Given the description of an element on the screen output the (x, y) to click on. 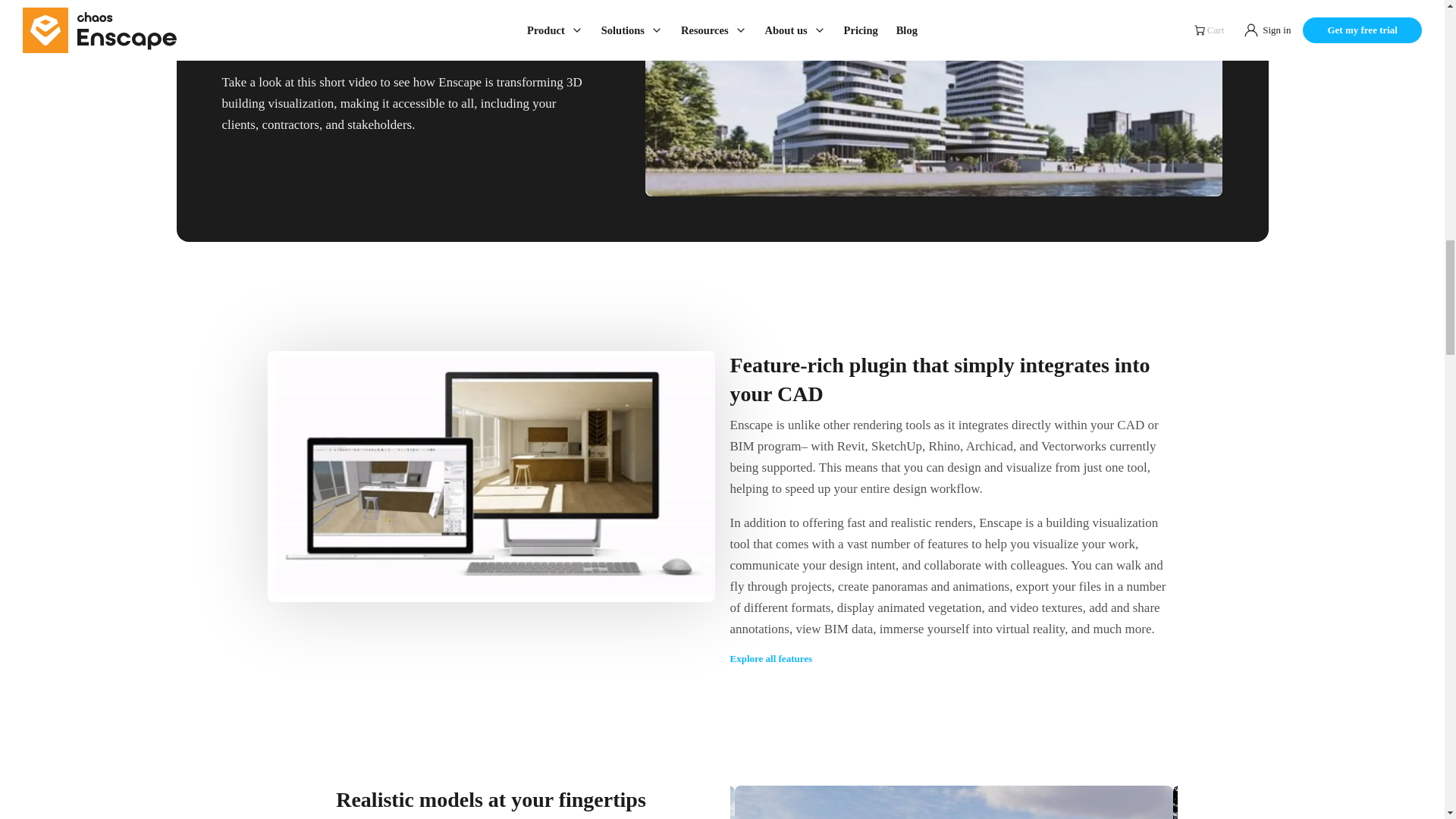
Play (933, 33)
Explore all features (770, 658)
